Given the description of an element on the screen output the (x, y) to click on. 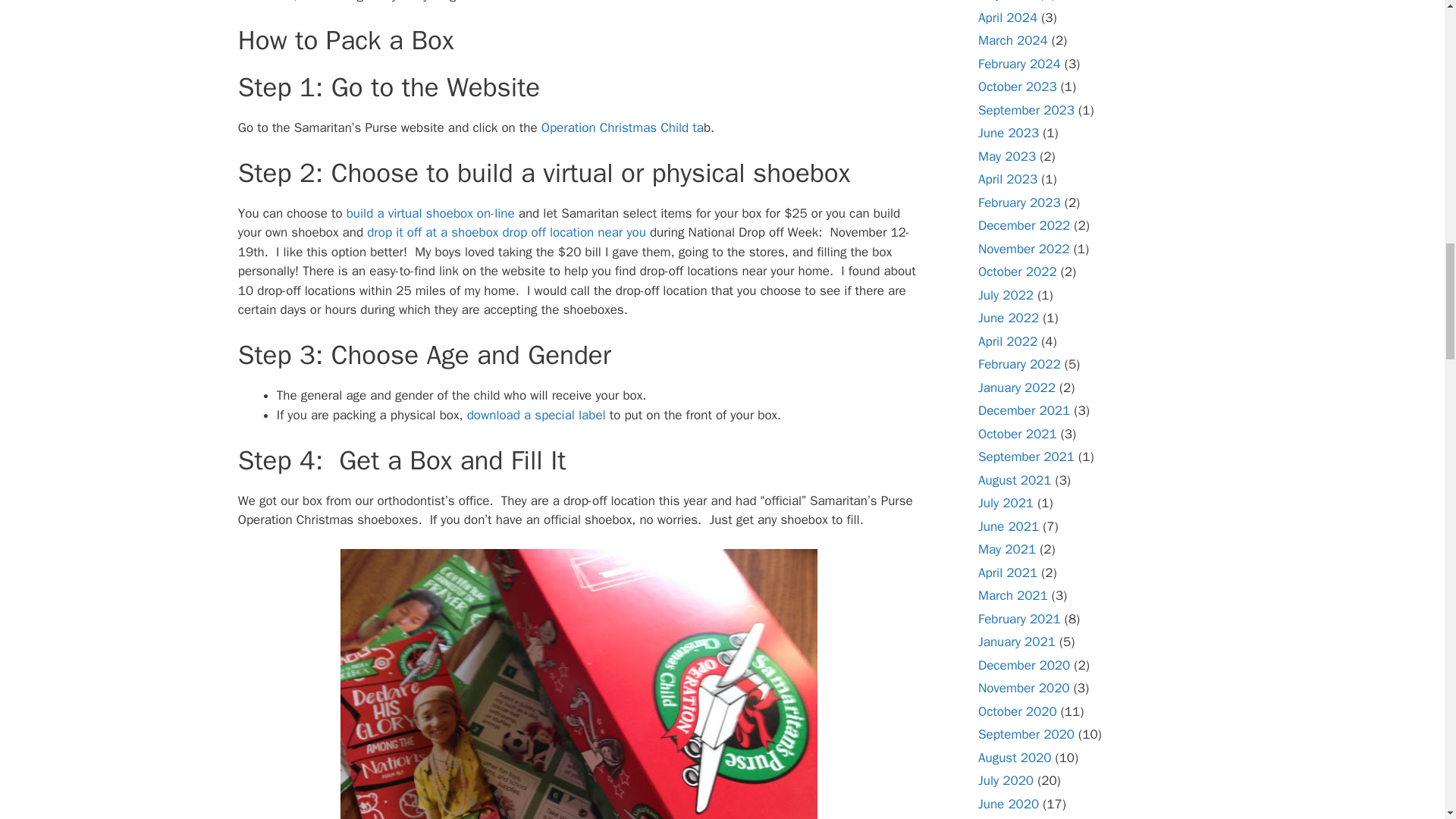
build a virtual shoebox on-line  (432, 213)
Operation Christmas Child ta (622, 127)
drop it off at a shoebox drop off location near you (506, 232)
download a special label (536, 415)
